Given the description of an element on the screen output the (x, y) to click on. 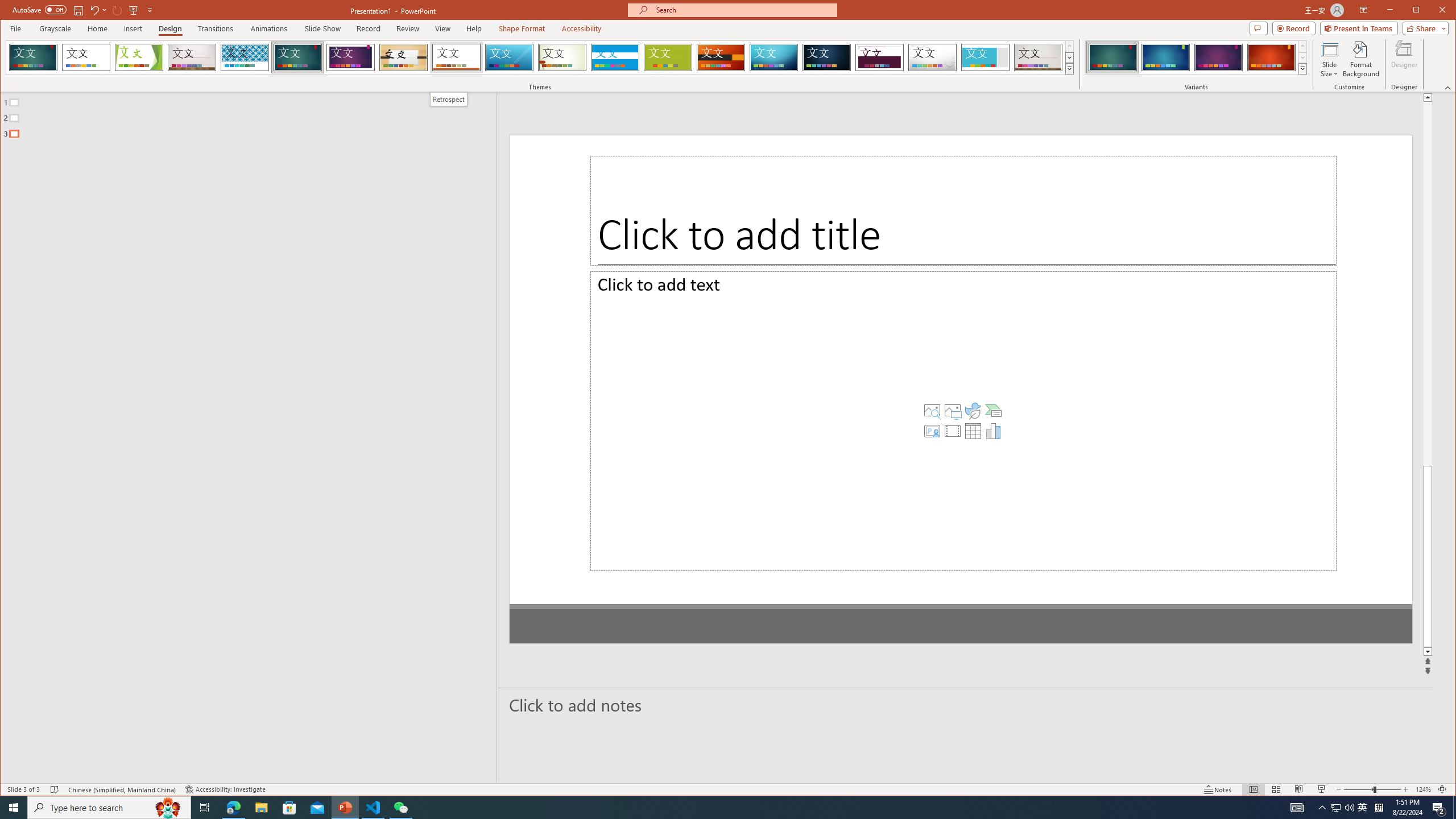
Pictures (911, 432)
Dividend (879, 57)
Office Theme (85, 57)
AutomationID: ThemeVariantsGallery (1196, 57)
Damask (826, 57)
Retrospect (456, 57)
Content Placeholder (922, 442)
